Given the description of an element on the screen output the (x, y) to click on. 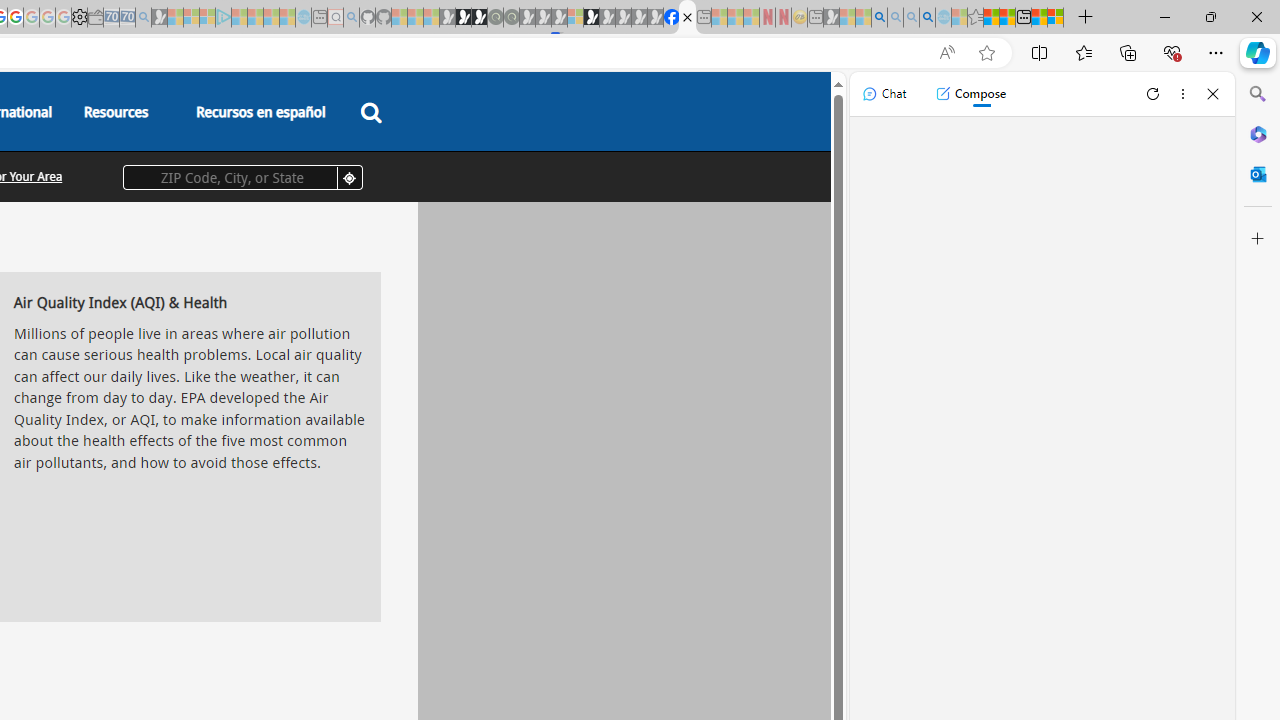
Bing AI - Search (879, 17)
